Given the description of an element on the screen output the (x, y) to click on. 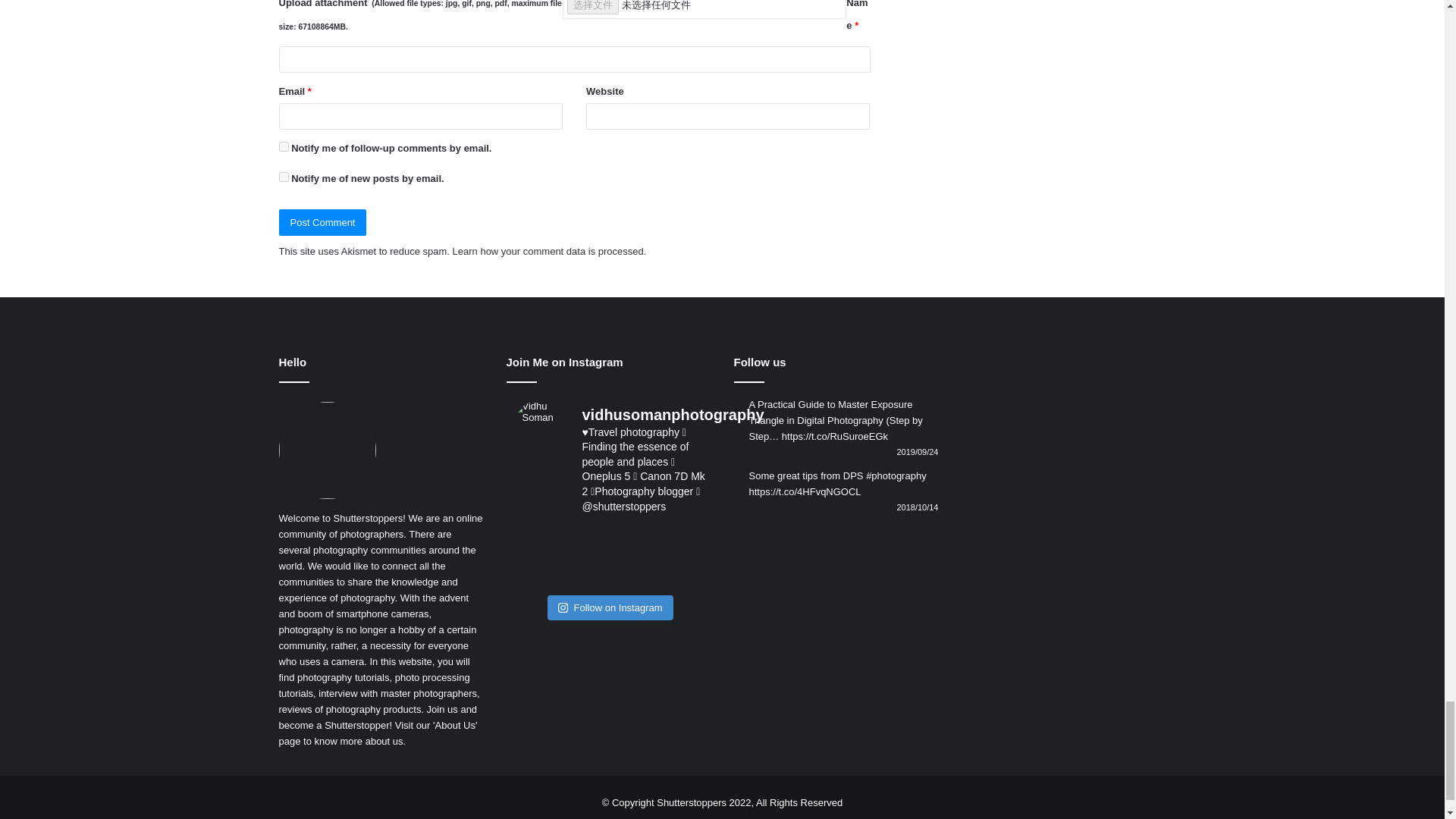
subscribe (283, 176)
subscribe (283, 146)
Post Comment (322, 222)
